Given the description of an element on the screen output the (x, y) to click on. 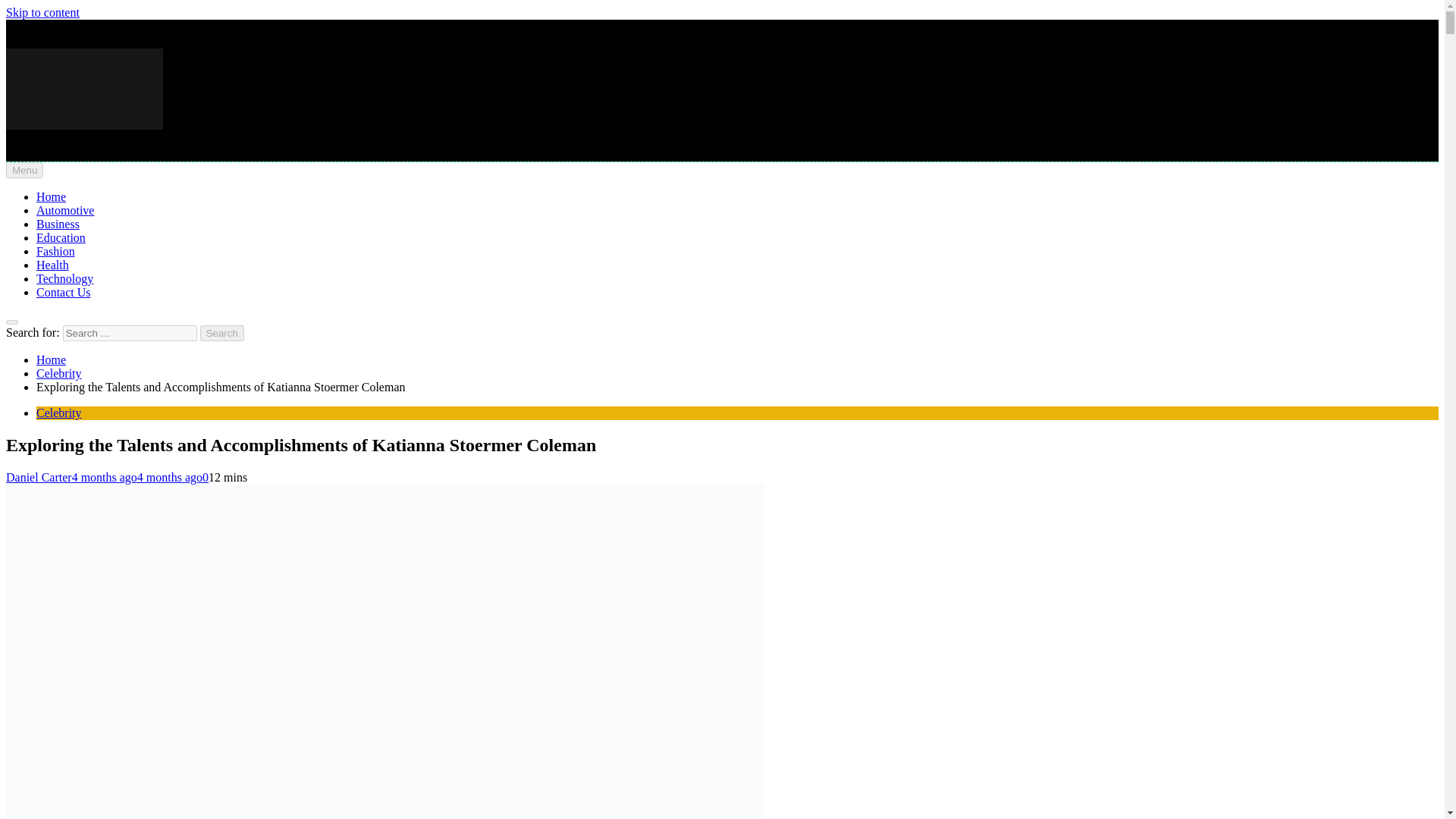
Home (50, 196)
Business (58, 223)
Skip to content (42, 11)
4 months ago4 months ago (136, 477)
Menu (24, 170)
suzuki-tech (33, 179)
Education (60, 237)
Automotive (65, 210)
Search (222, 333)
Fashion (55, 250)
Daniel Carter (38, 477)
Contact Us (63, 291)
Technology (64, 278)
Celebrity (58, 412)
Home (50, 359)
